Given the description of an element on the screen output the (x, y) to click on. 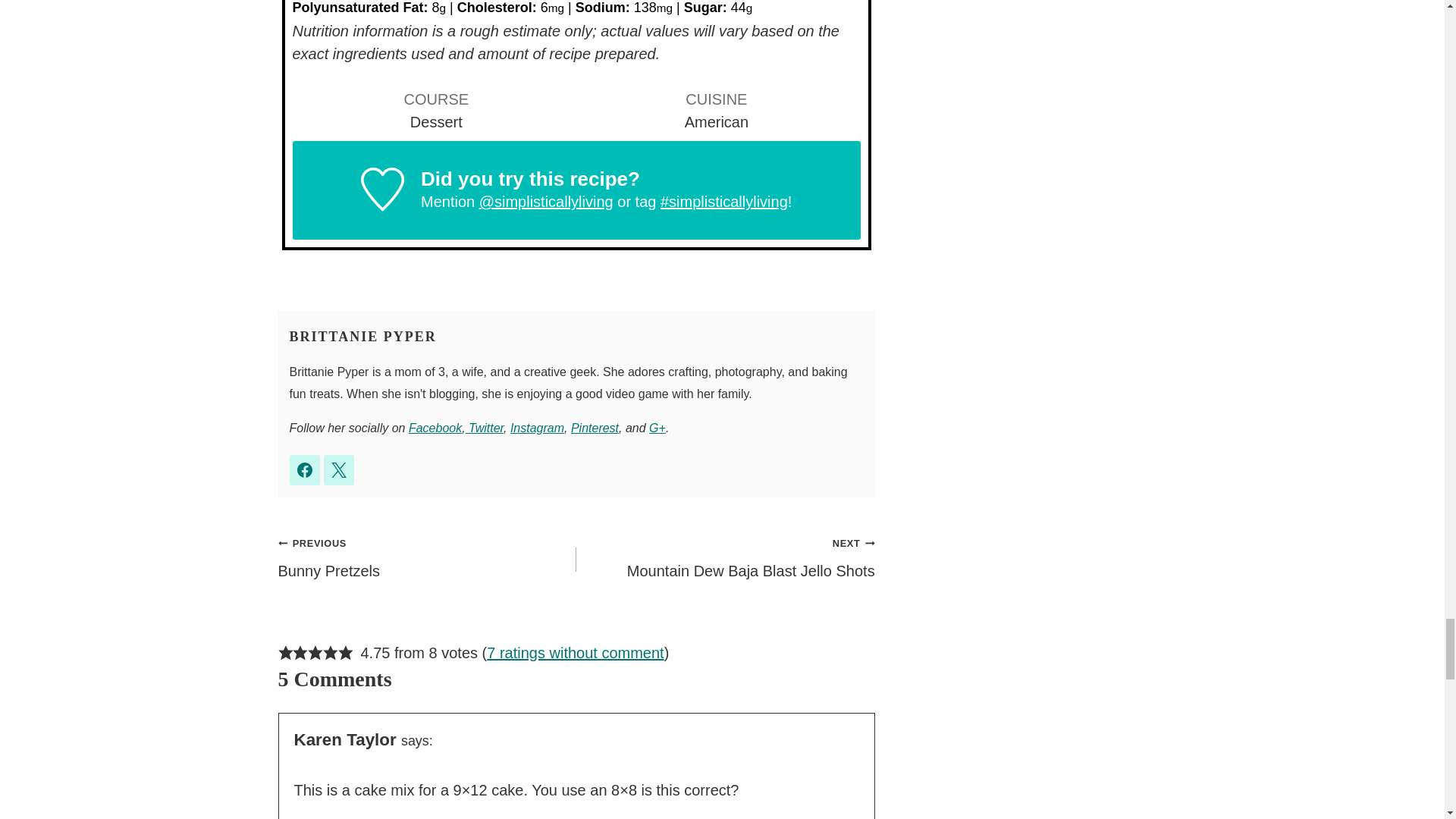
Pinterest (594, 427)
Twitter (484, 427)
Follow Brittanie Pyper on Facebook (304, 470)
Follow Brittanie Pyper on X formerly Twitter (338, 470)
Facebook (435, 427)
Instagram (537, 427)
Posts by Brittanie Pyper (362, 336)
